Given the description of an element on the screen output the (x, y) to click on. 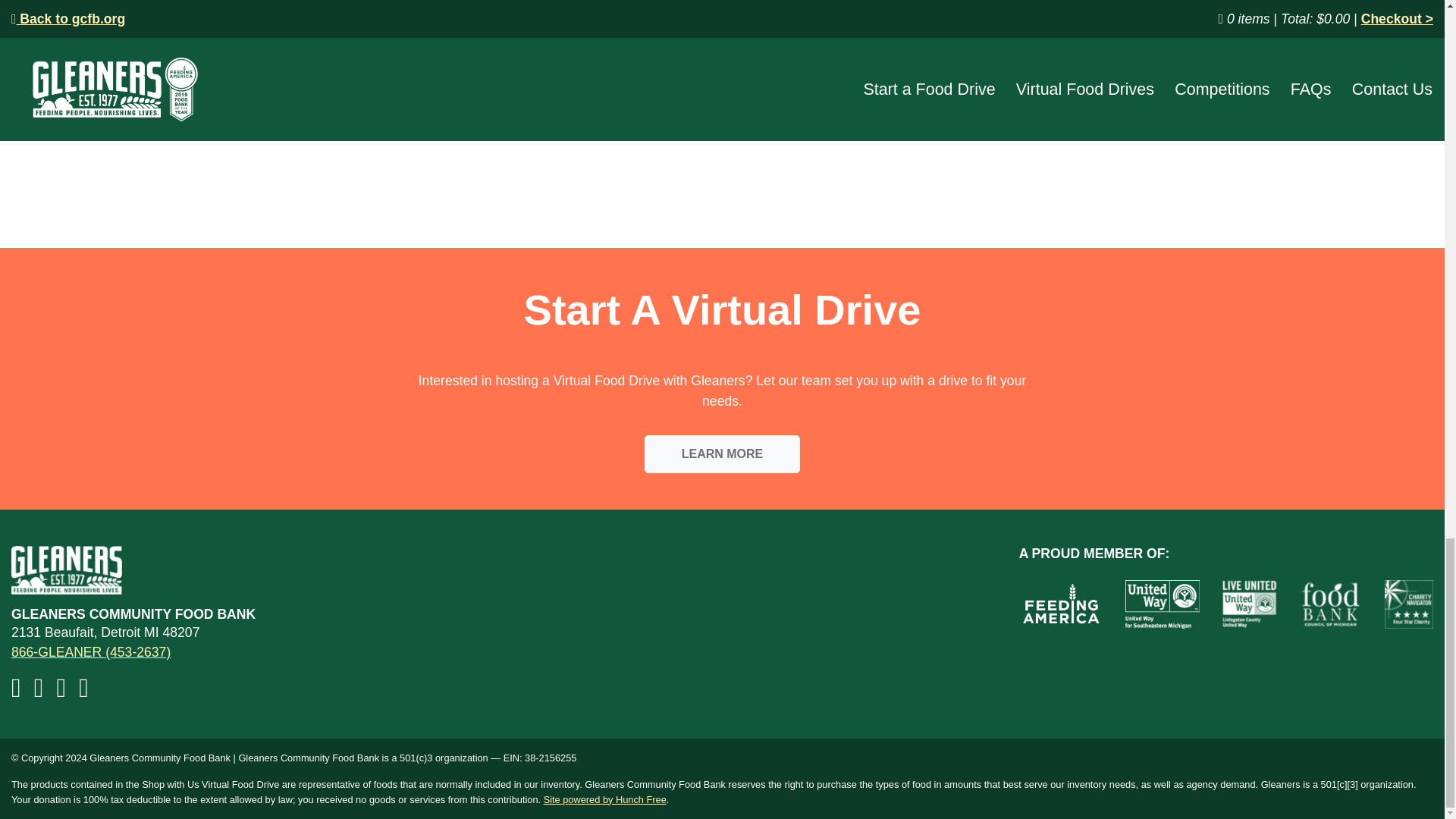
Site powered by Hunch Free (604, 799)
LEARN MORE (722, 453)
